Given the description of an element on the screen output the (x, y) to click on. 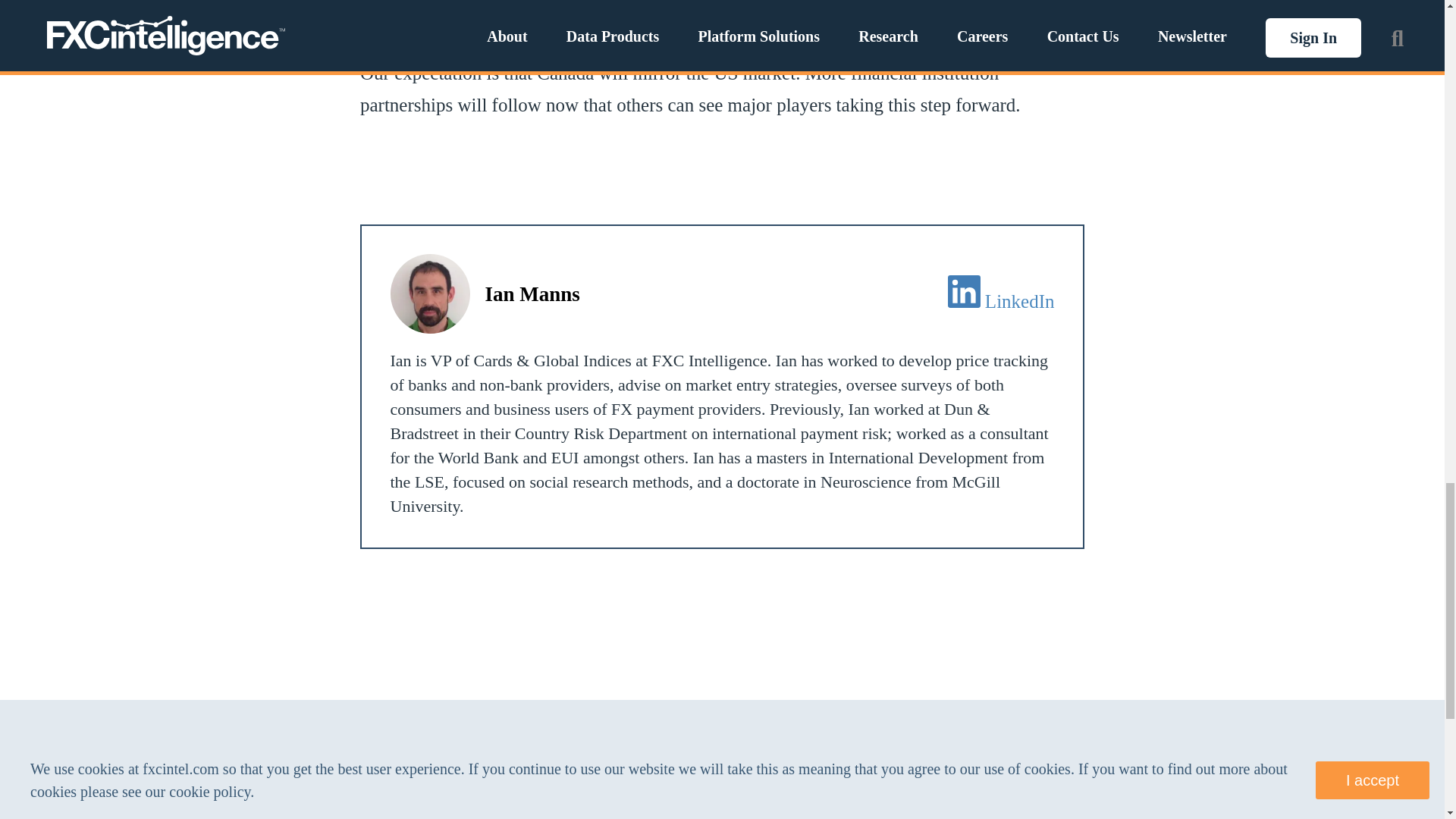
LinkedIn (963, 291)
Contact Us (654, 807)
Ian Manns (531, 293)
LinkedIn (1019, 301)
